Given the description of an element on the screen output the (x, y) to click on. 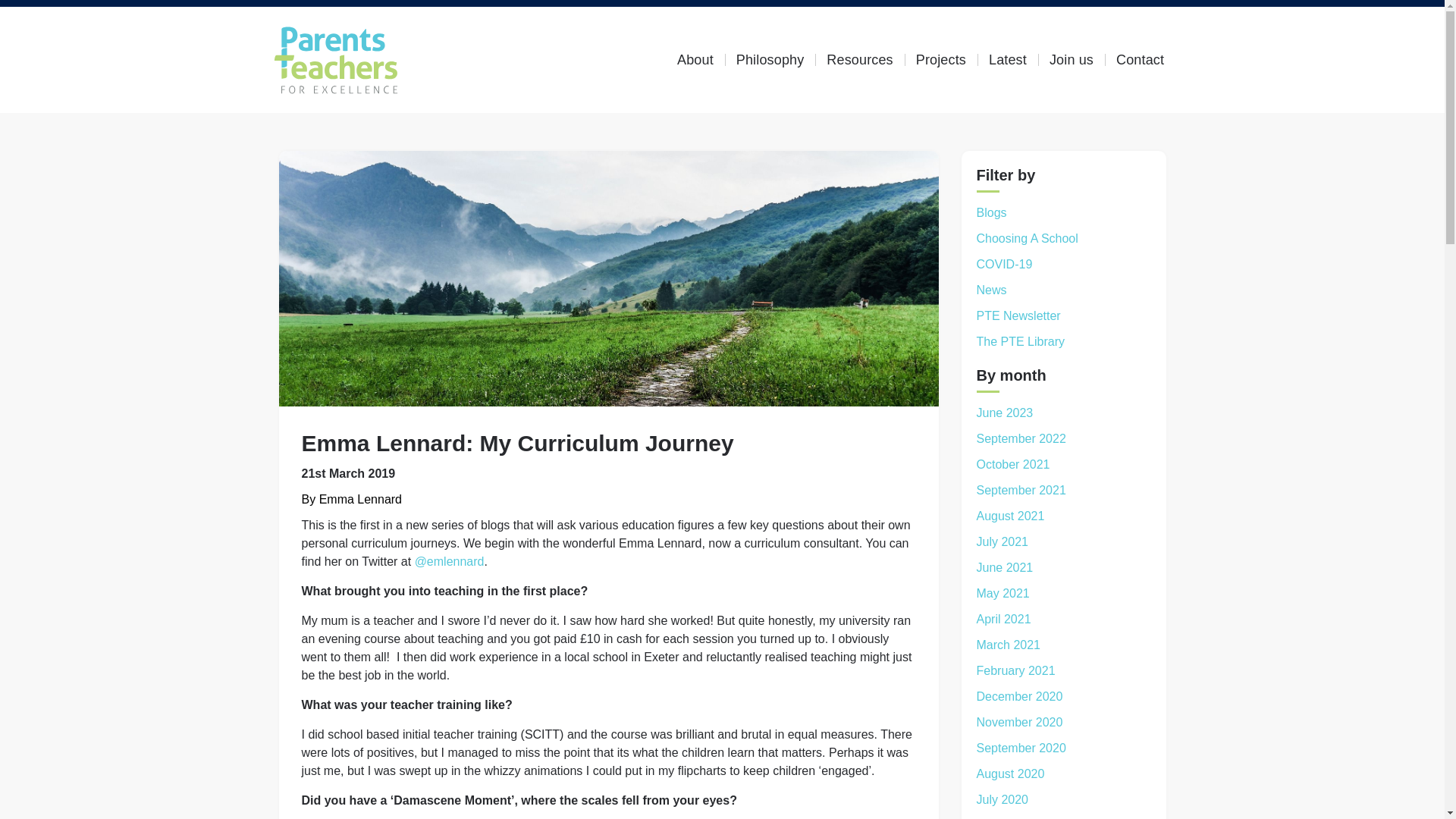
September 2021 (1020, 490)
September 2022 (1020, 438)
Blogs (991, 212)
Emma Lennard (359, 499)
May 2021 (1002, 593)
February 2021 (1015, 670)
The PTE Library (1020, 341)
Join us (1071, 59)
August 2021 (1010, 515)
June 2023 (1004, 412)
